Given the description of an element on the screen output the (x, y) to click on. 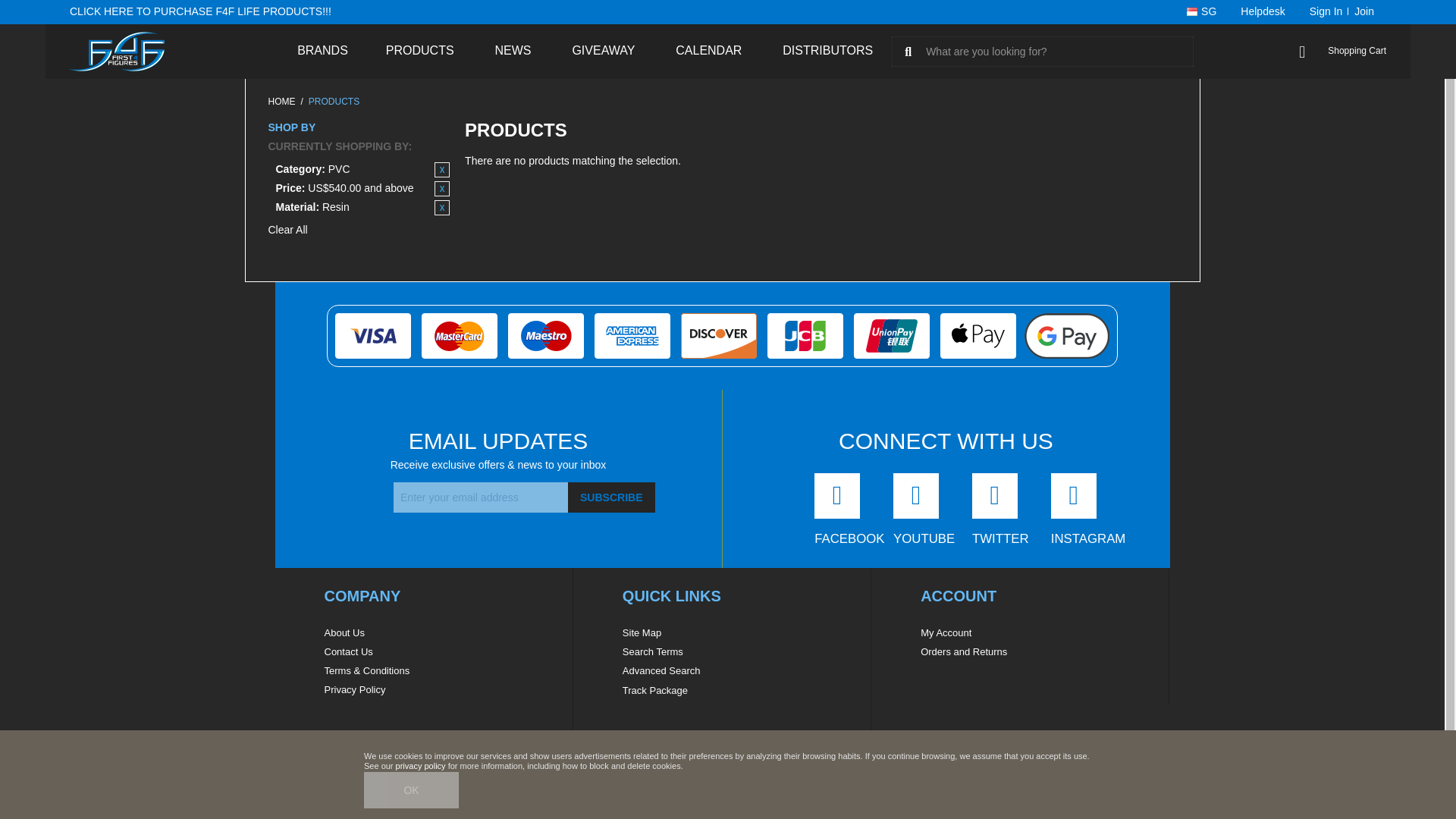
JCB (805, 334)
Sign In (1323, 11)
Discover (719, 334)
American Express (631, 334)
Remove This Item (441, 207)
Helpdesk (1262, 11)
Join (1364, 11)
CLICK HERE TO PURCHASE F4F LIFE PRODUCTS!!! (200, 10)
Sign up for our newsletter (480, 497)
 SG (1200, 11)
